Given the description of an element on the screen output the (x, y) to click on. 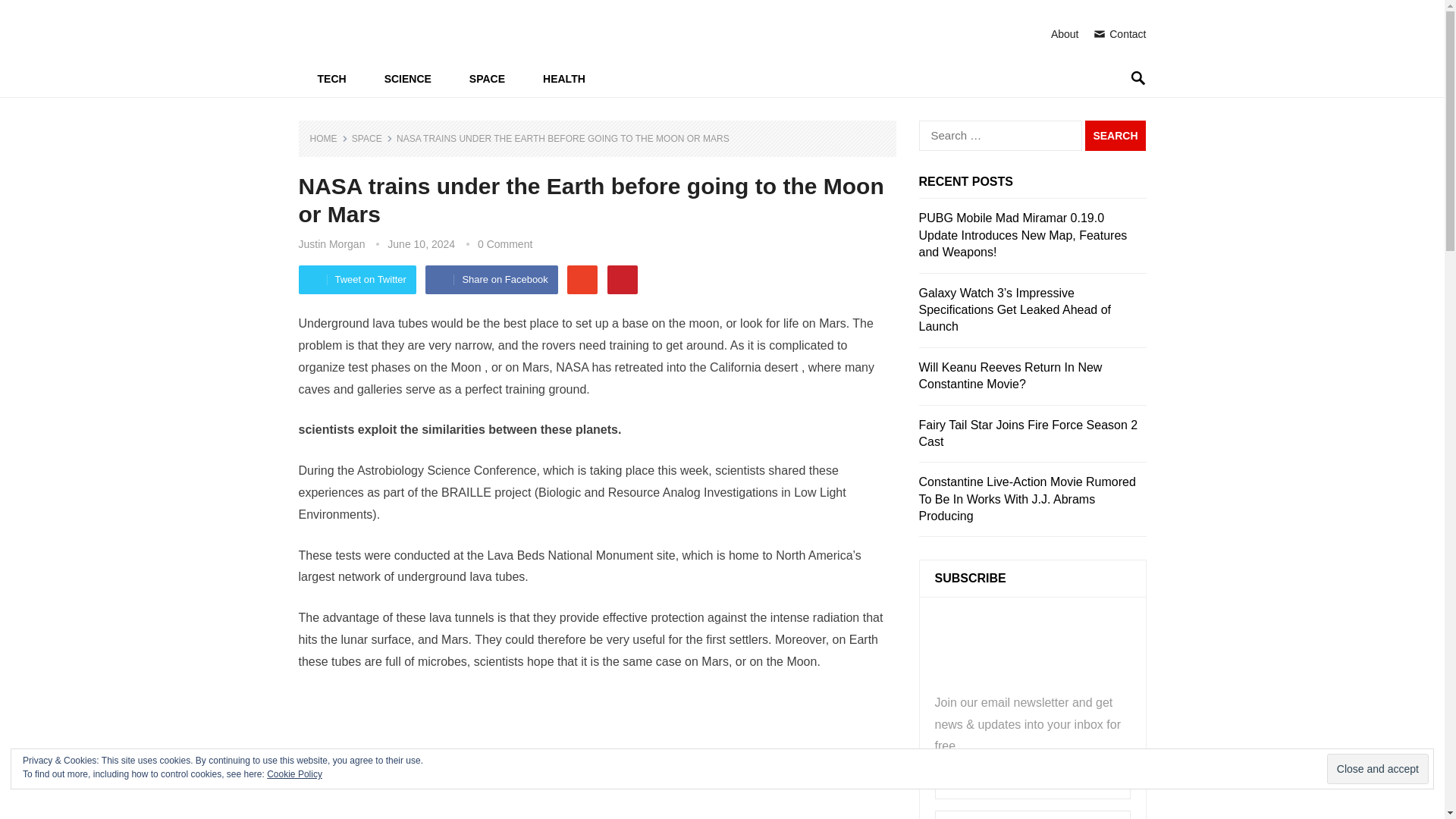
View all posts in Space (372, 138)
HOME (327, 138)
SCIENCE (407, 78)
SPACE (372, 138)
Posts by Justin Morgan (331, 244)
Search (1114, 135)
Search (1114, 135)
Contact (1119, 33)
TECH (331, 78)
Pinterest (622, 279)
